Given the description of an element on the screen output the (x, y) to click on. 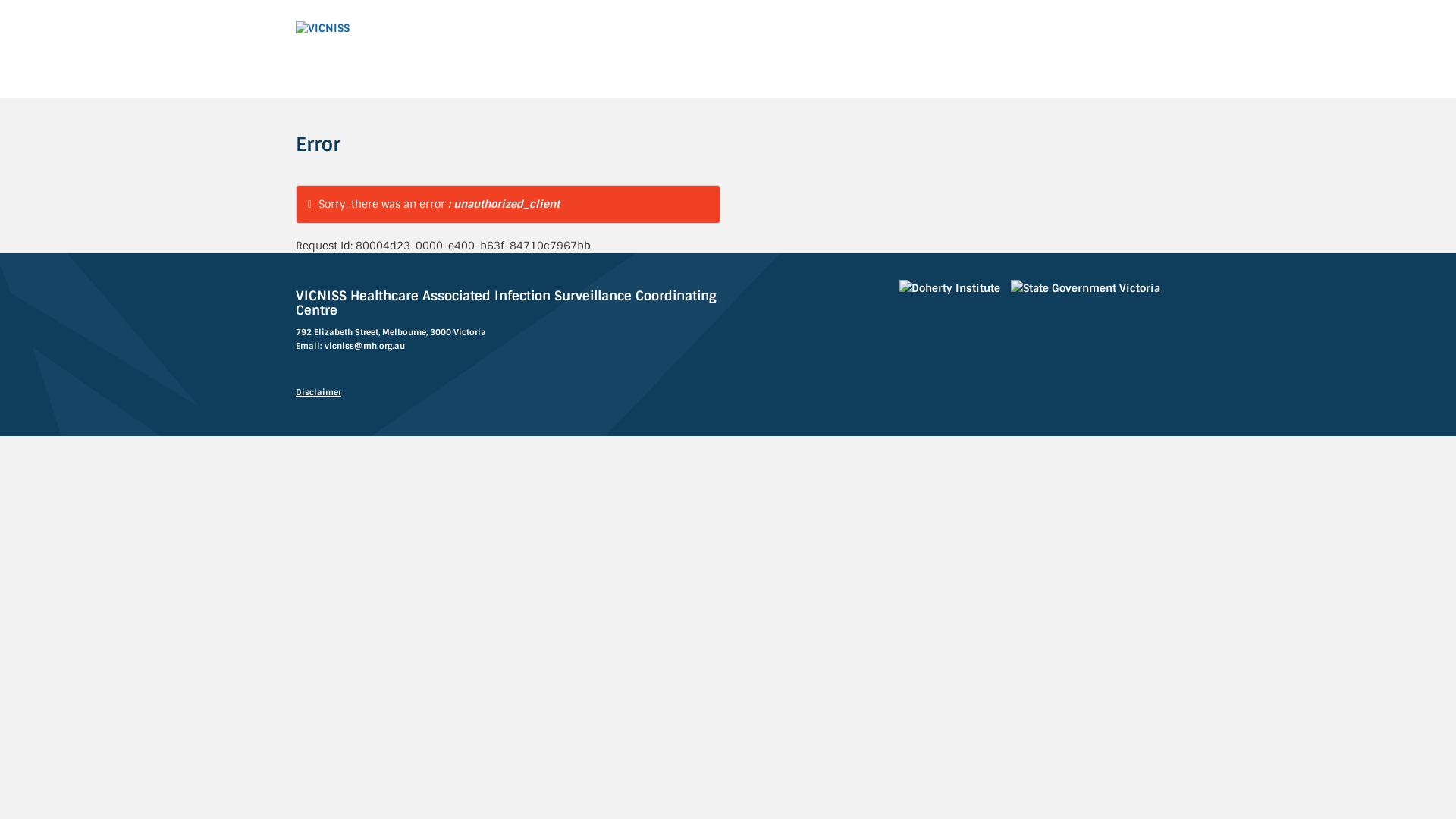
Home Element type: hover (434, 27)
Disclaimer Element type: text (318, 391)
